Given the description of an element on the screen output the (x, y) to click on. 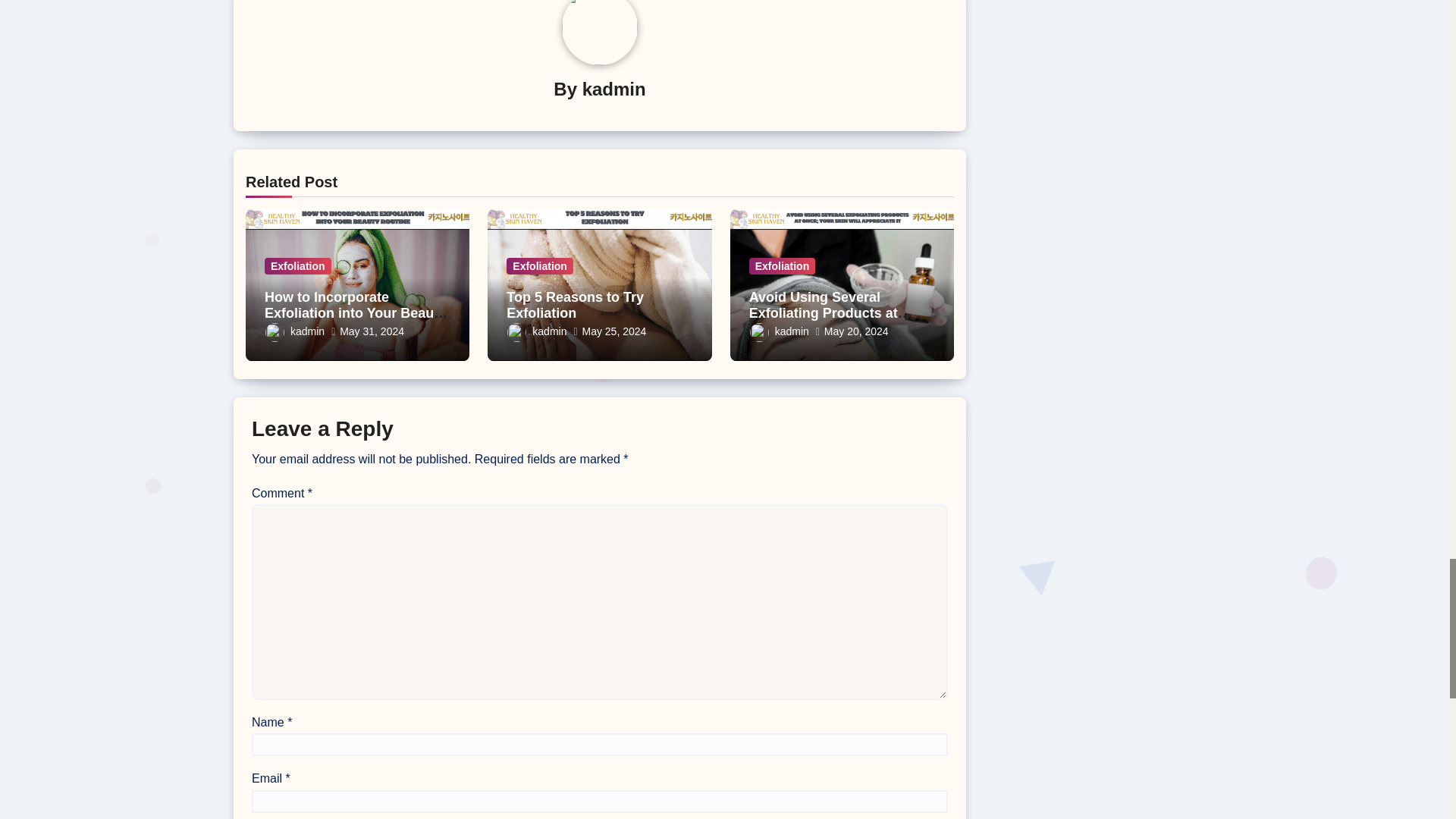
Permalink to: Top 5 Reasons to Try Exfoliation (574, 305)
